Given the description of an element on the screen output the (x, y) to click on. 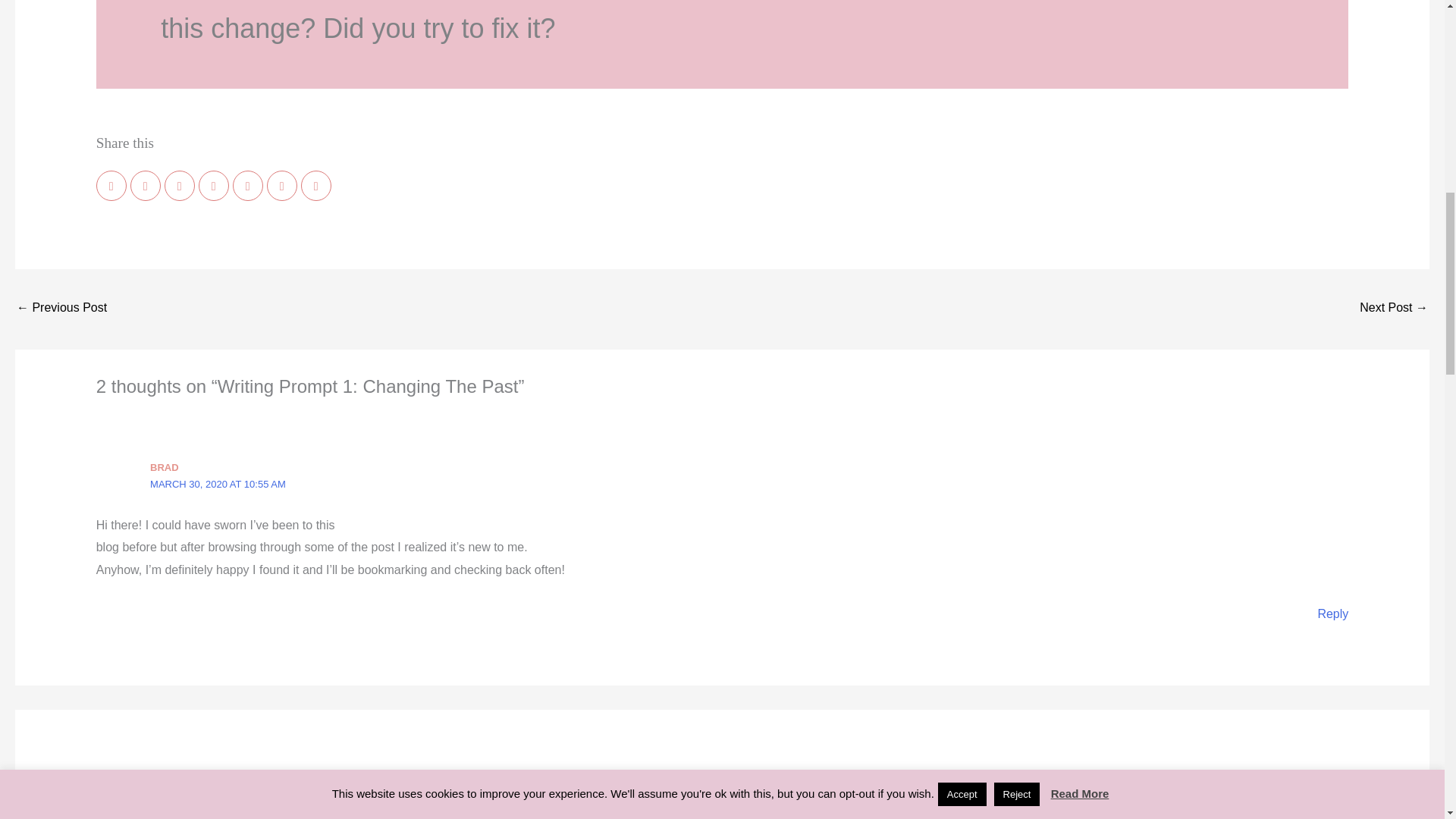
Reply (1332, 613)
JANUARY 17, 2021 AT 4:55 PM (219, 794)
MARCH 30, 2020 AT 10:55 AM (217, 483)
